Given the description of an element on the screen output the (x, y) to click on. 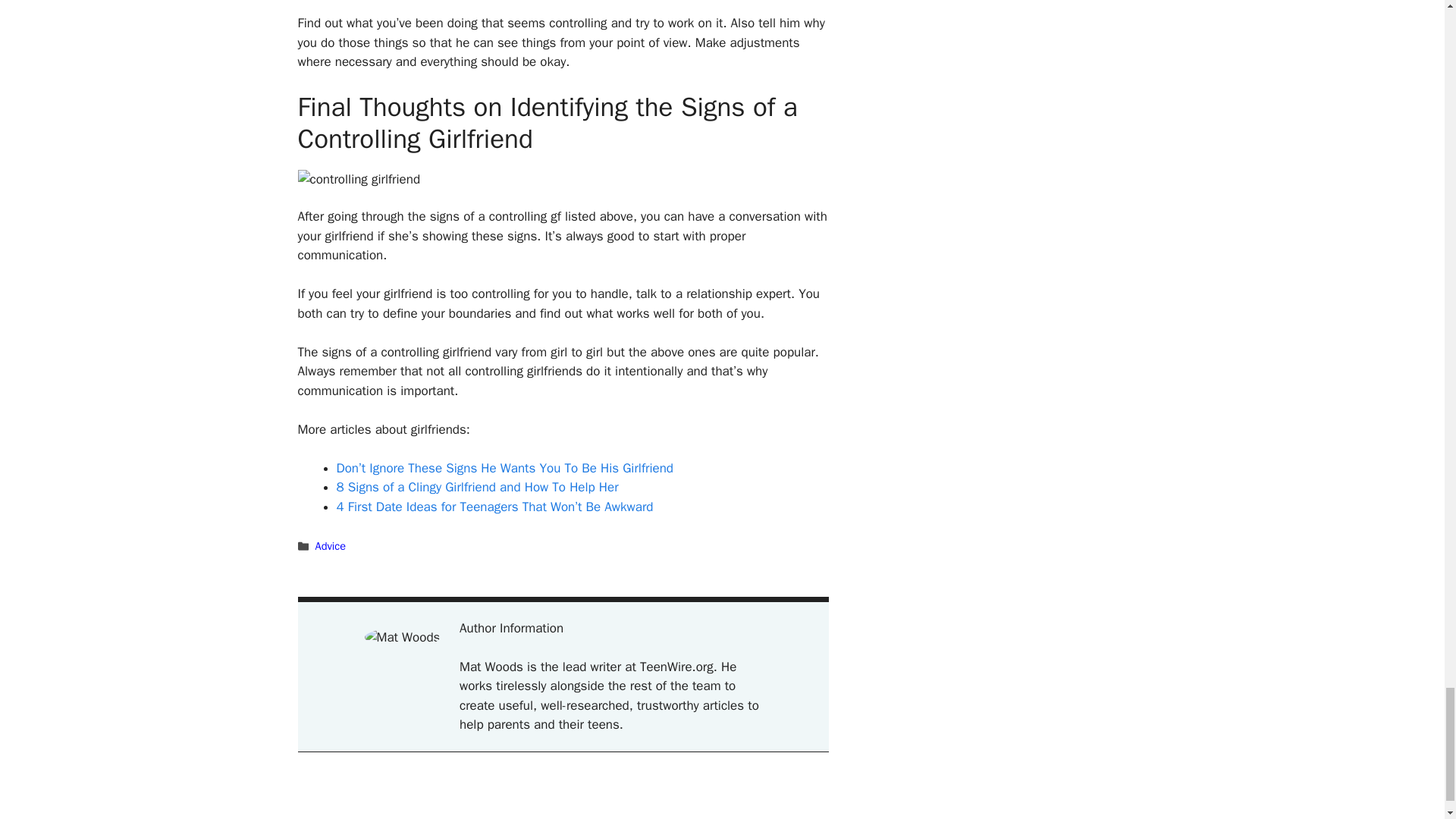
8 Signs of a Clingy Girlfriend and How To Help Her (477, 487)
Advice (330, 545)
